Given the description of an element on the screen output the (x, y) to click on. 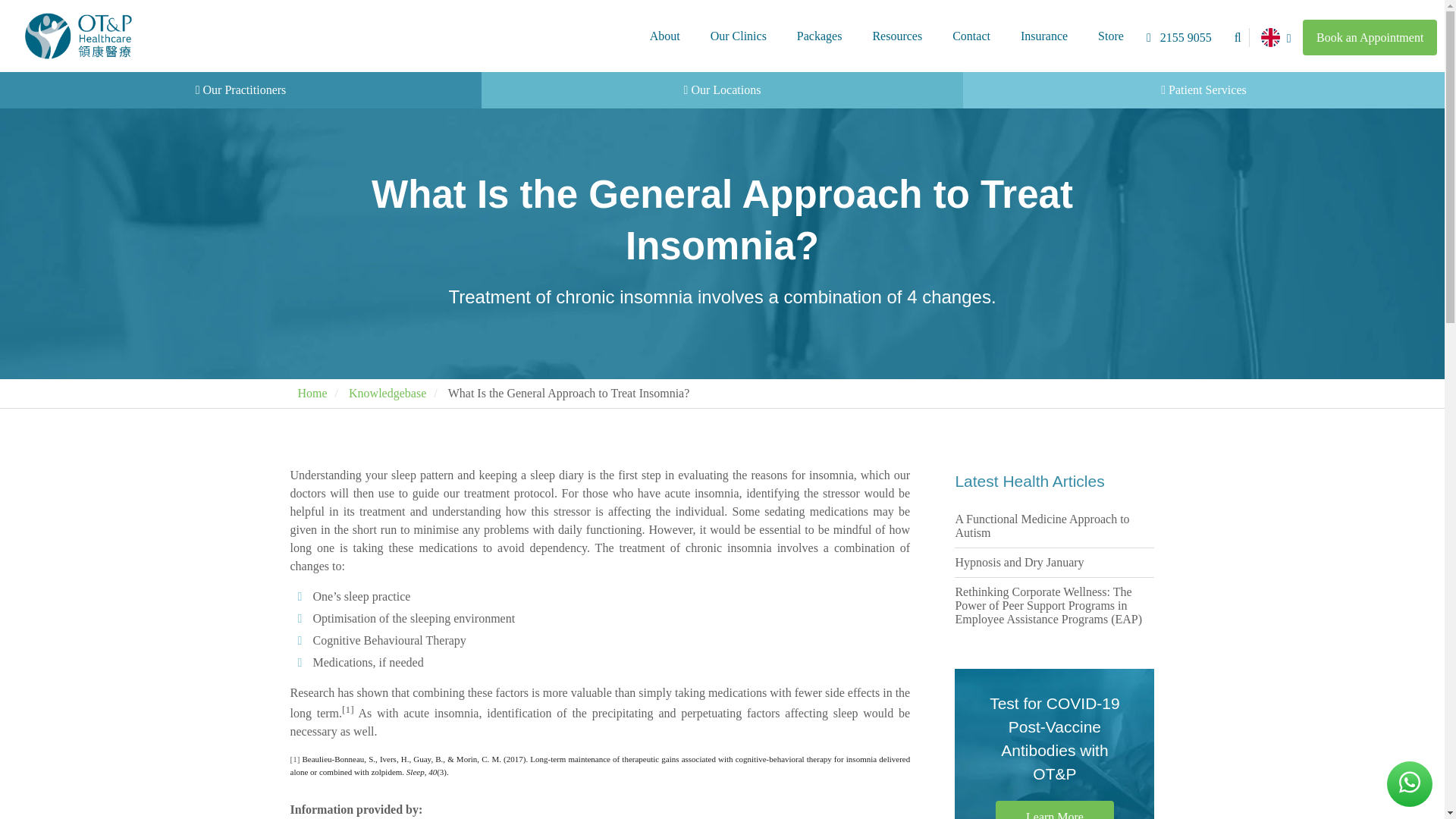
Our Clinics (738, 36)
